Given the description of an element on the screen output the (x, y) to click on. 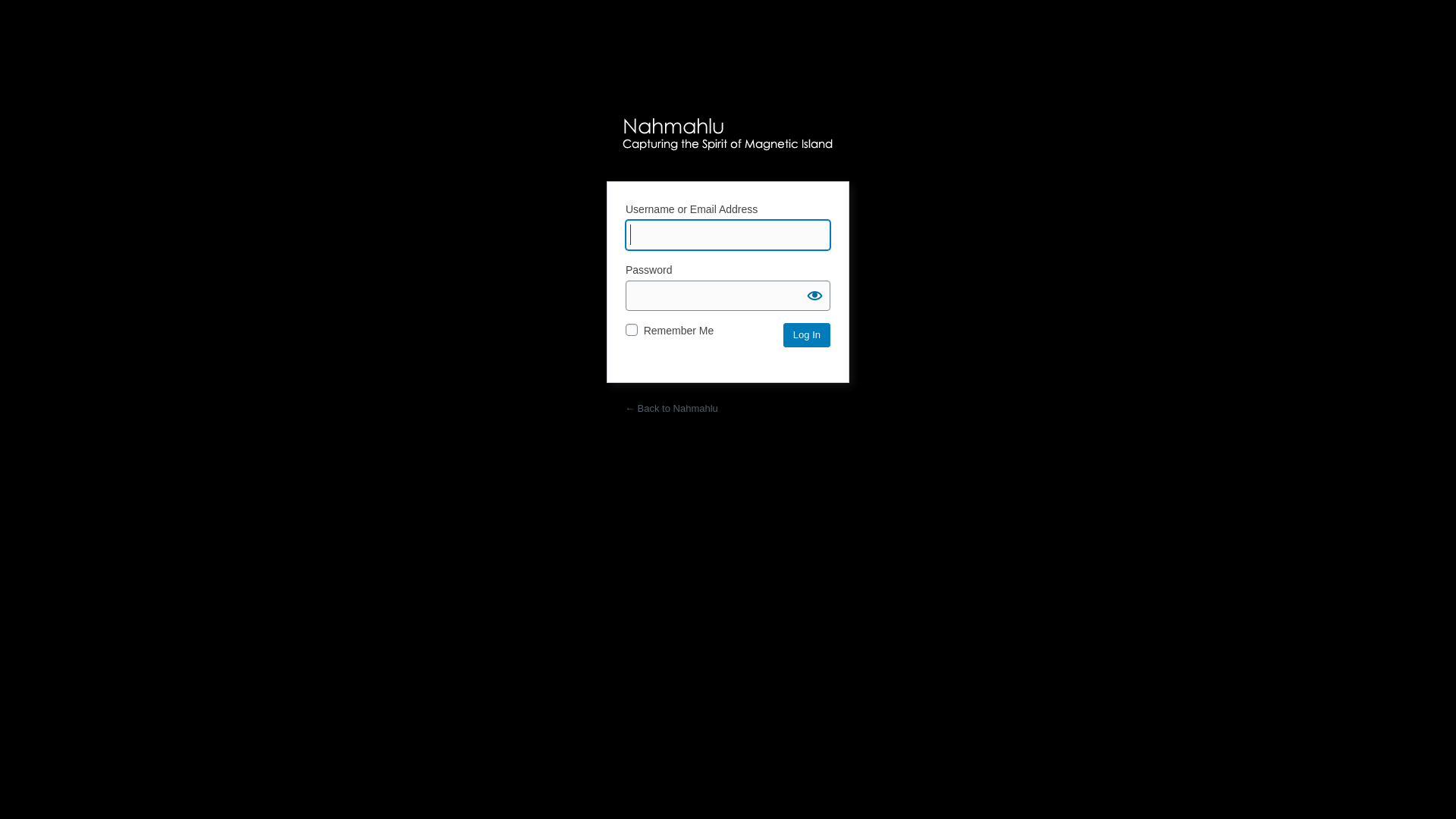
Log In Element type: text (806, 335)
Accommodation on Magnetic Island Element type: text (727, 139)
